Given the description of an element on the screen output the (x, y) to click on. 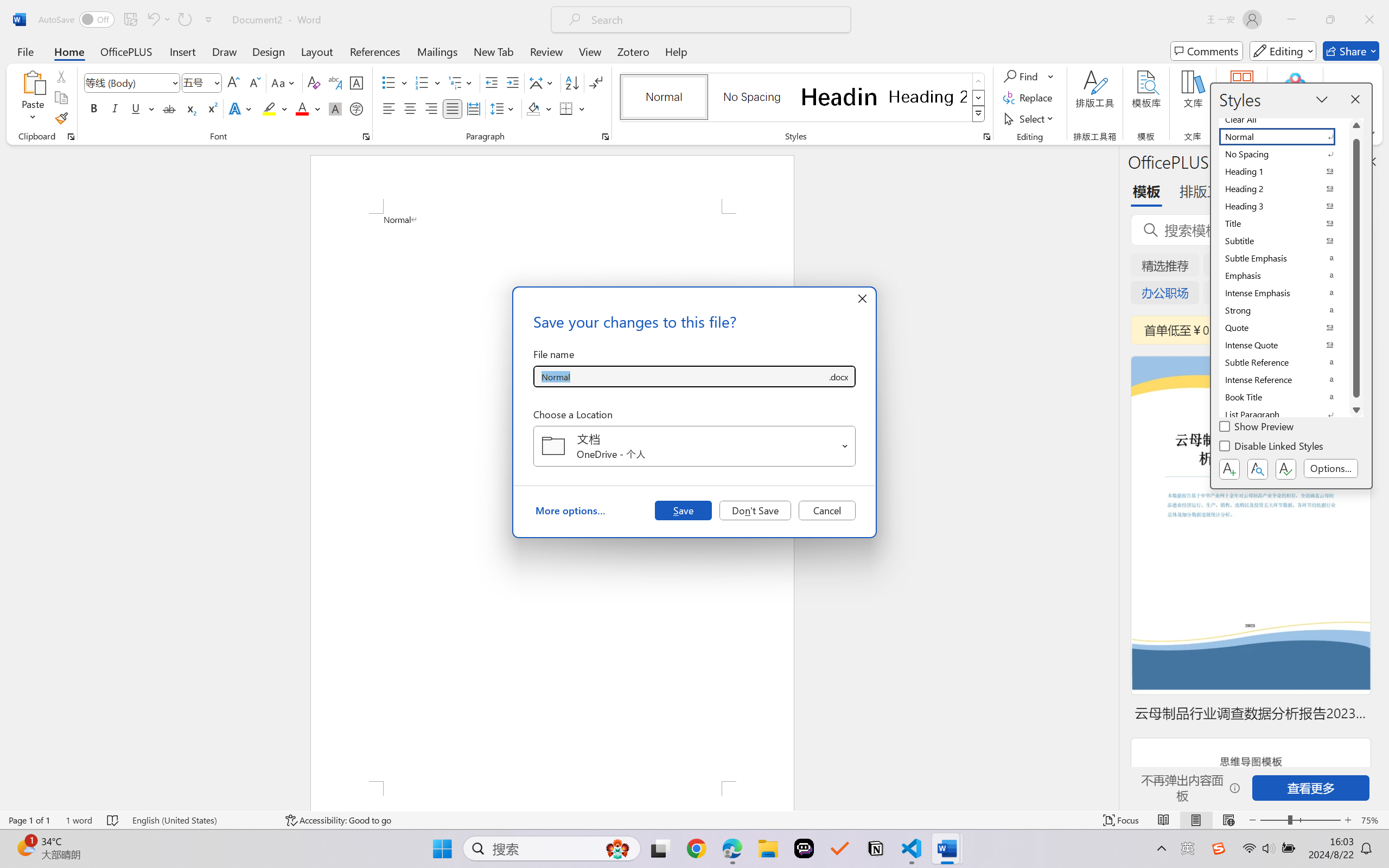
Web Layout (1228, 819)
Text Effects and Typography (241, 108)
Grow Font (233, 82)
Change Case (284, 82)
Phonetic Guide... (334, 82)
Title (1283, 223)
Help (675, 51)
Page Number Page 1 of 1 (29, 819)
Font Color Red (302, 108)
